Given the description of an element on the screen output the (x, y) to click on. 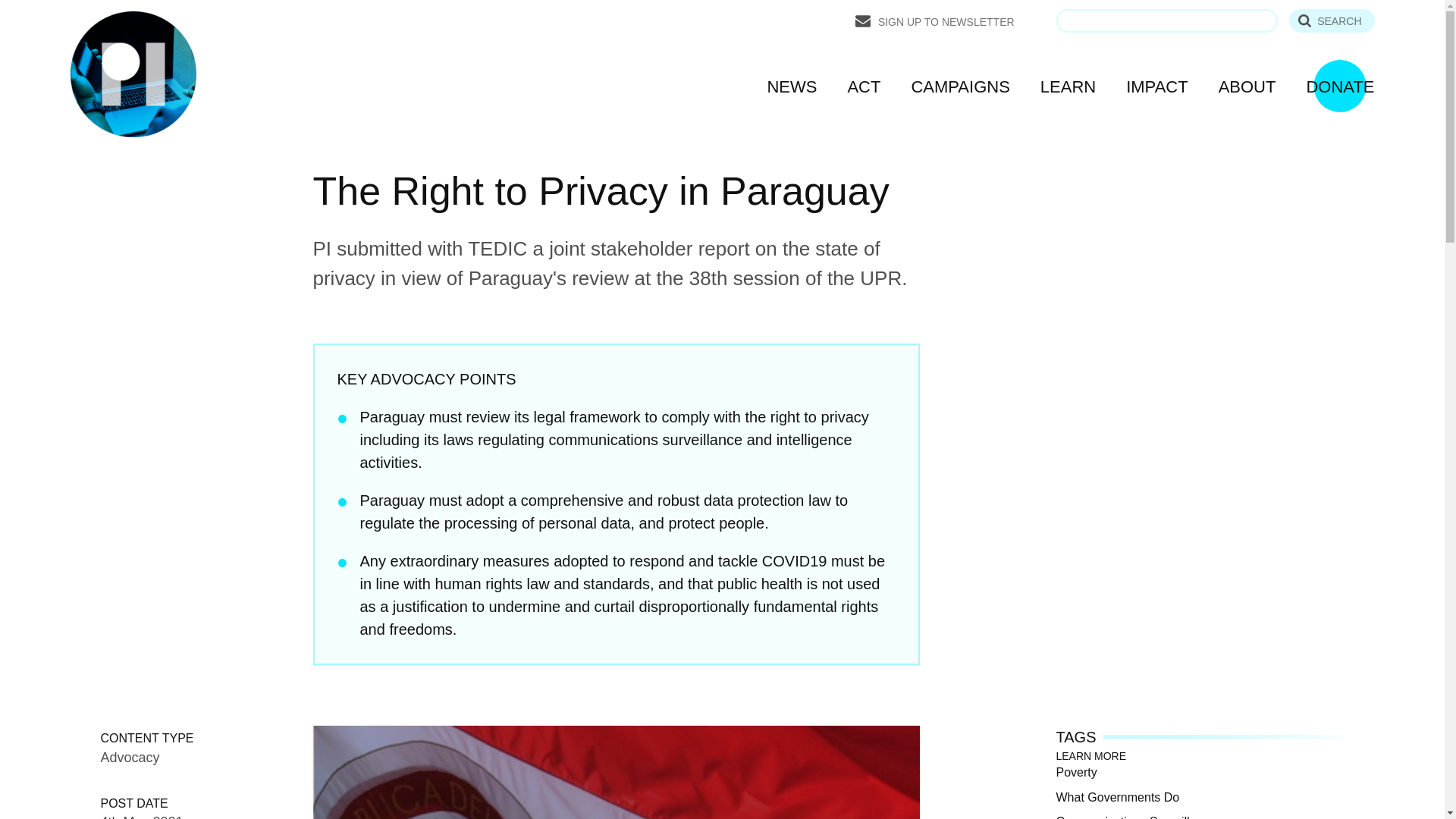
NEWS (791, 86)
DONATE (1340, 86)
IMPACT (1156, 86)
LEARN (1068, 86)
Communications Surveillance (1135, 815)
ABOUT (1247, 86)
SIGN UP TO NEWSLETTER (935, 21)
Search (1331, 20)
Search (1331, 20)
What Governments Do (1117, 796)
